Given the description of an element on the screen output the (x, y) to click on. 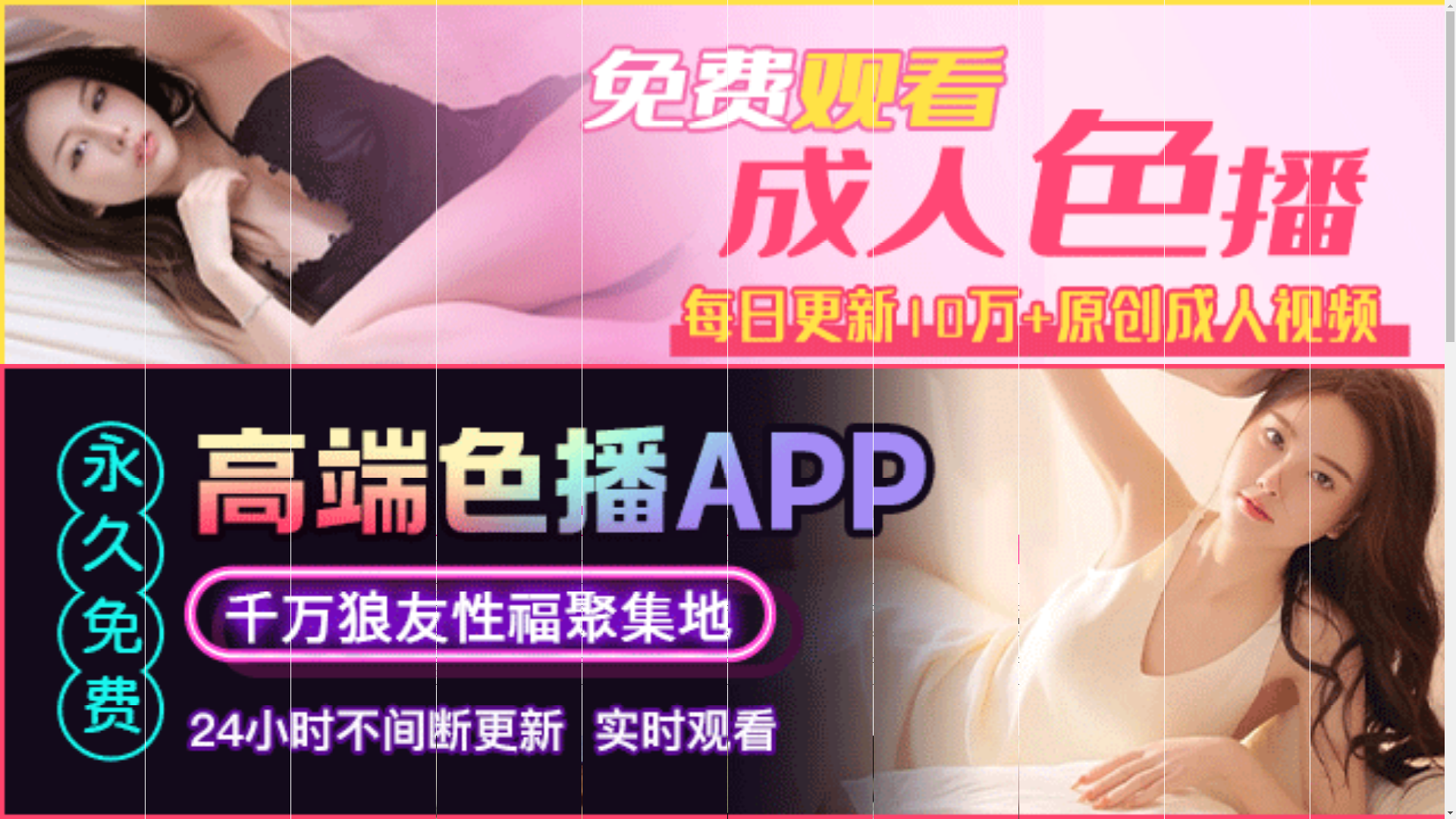
91TV Element type: hover (1240, 593)
Korean Element type: text (700, 620)
SM Element type: text (1013, 620)
COS Element type: text (835, 646)
91 Element type: text (567, 594)
3P Element type: text (968, 620)
